Given the description of an element on the screen output the (x, y) to click on. 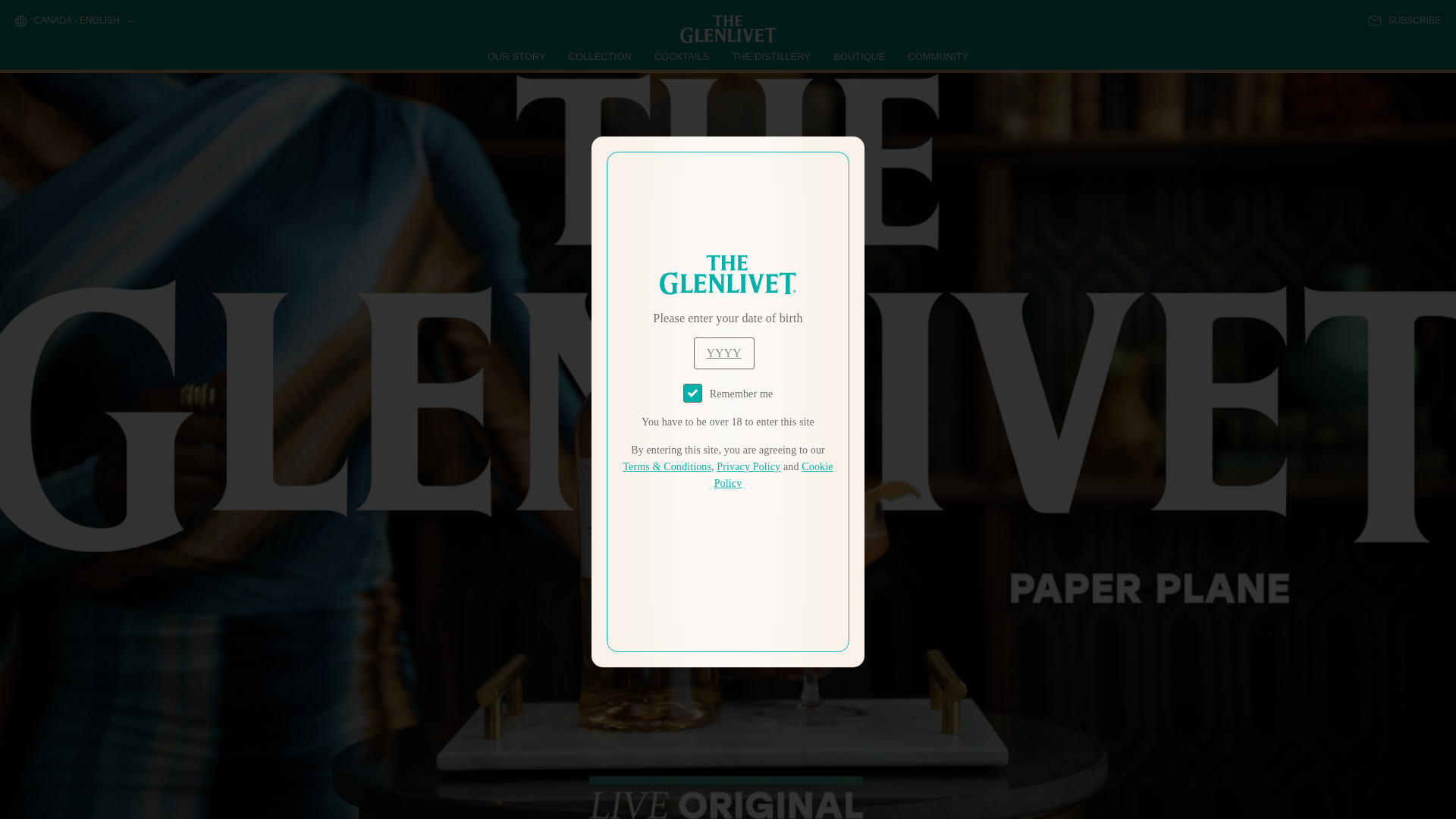
BOUTIQUE (858, 56)
OUR STORY (516, 56)
COLLECTION (600, 56)
CANADA - ENGLISH (73, 21)
SUBSCRIBE (1404, 20)
THE DISTILLERY (771, 56)
COMMUNITY (937, 56)
year (723, 353)
Cookie Policy (773, 474)
COCKTAILS (681, 56)
Privacy Policy (748, 466)
